Given the description of an element on the screen output the (x, y) to click on. 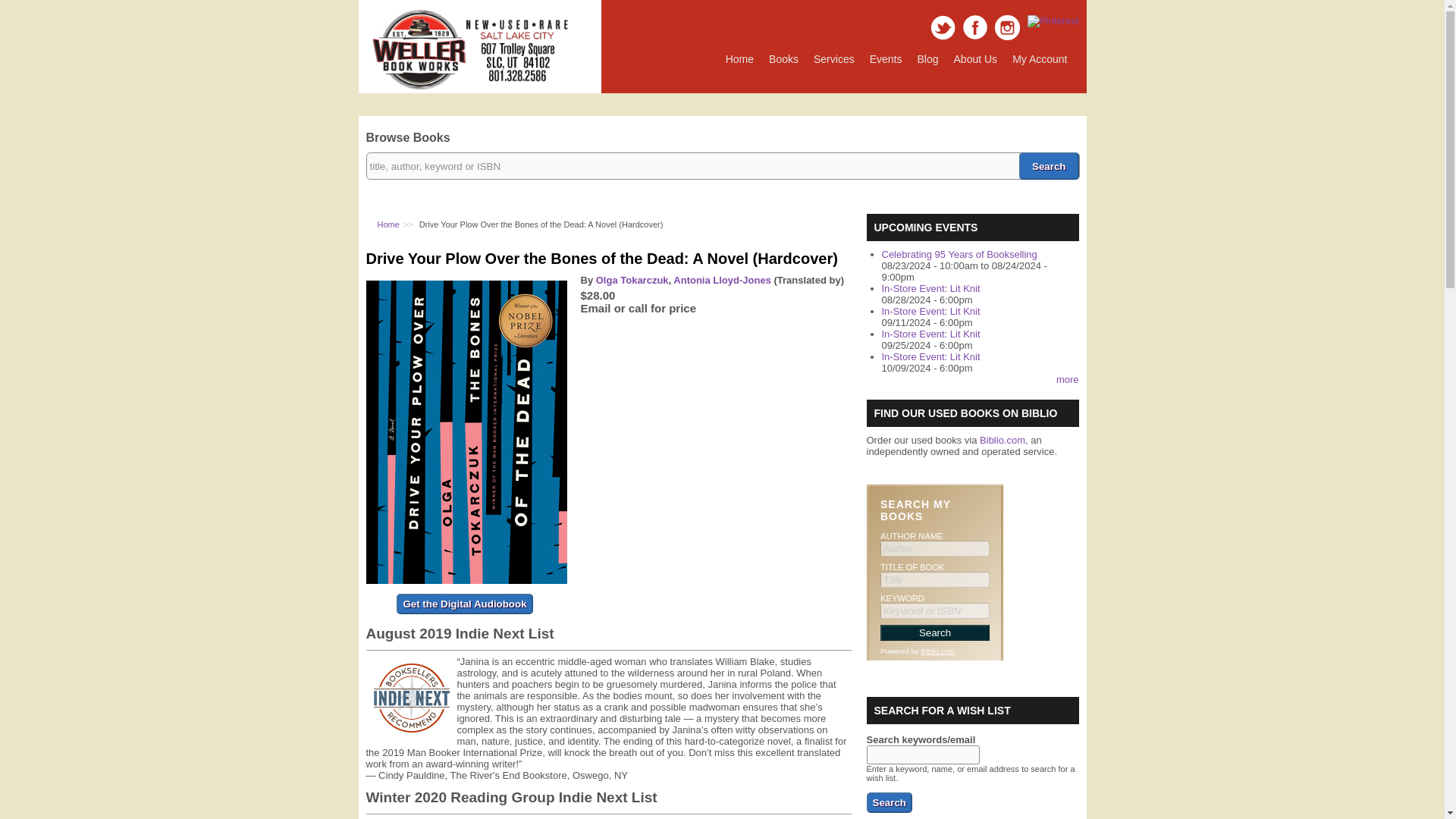
Services (833, 58)
There's no place like it (739, 58)
Home (387, 224)
Home (467, 87)
Blog (928, 58)
Search (888, 802)
Books (783, 58)
About Us (976, 58)
Search (1048, 165)
